Given the description of an element on the screen output the (x, y) to click on. 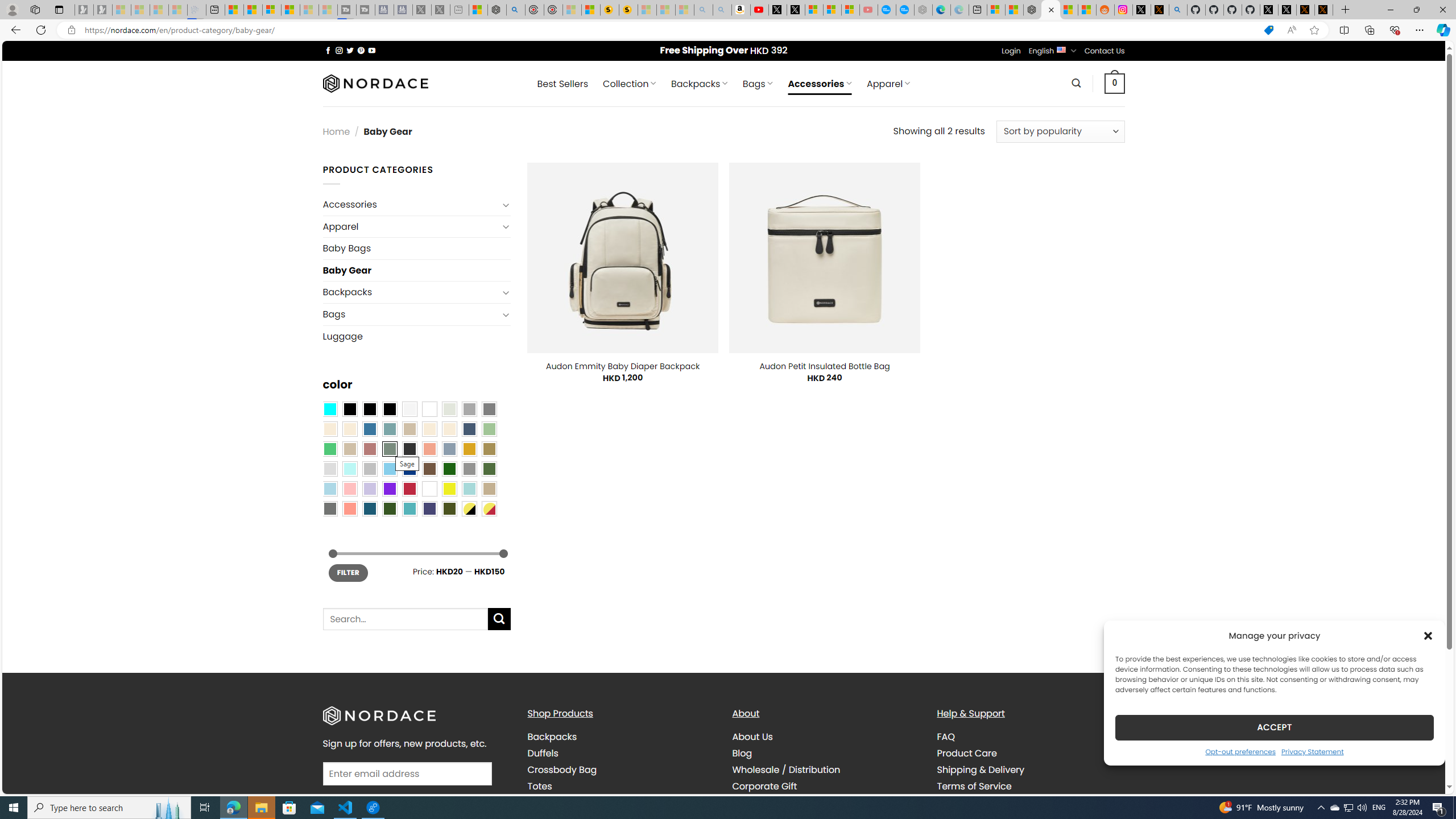
Go to top (1421, 777)
Purple Navy (429, 508)
Black-Brown (389, 408)
Crossbody Bag (561, 770)
 Best Sellers (562, 83)
Navy Blue (408, 468)
Newsletter Sign Up - Sleeping (102, 9)
Sky Blue (389, 468)
Peach Pink (349, 508)
Purple (389, 488)
